Given the description of an element on the screen output the (x, y) to click on. 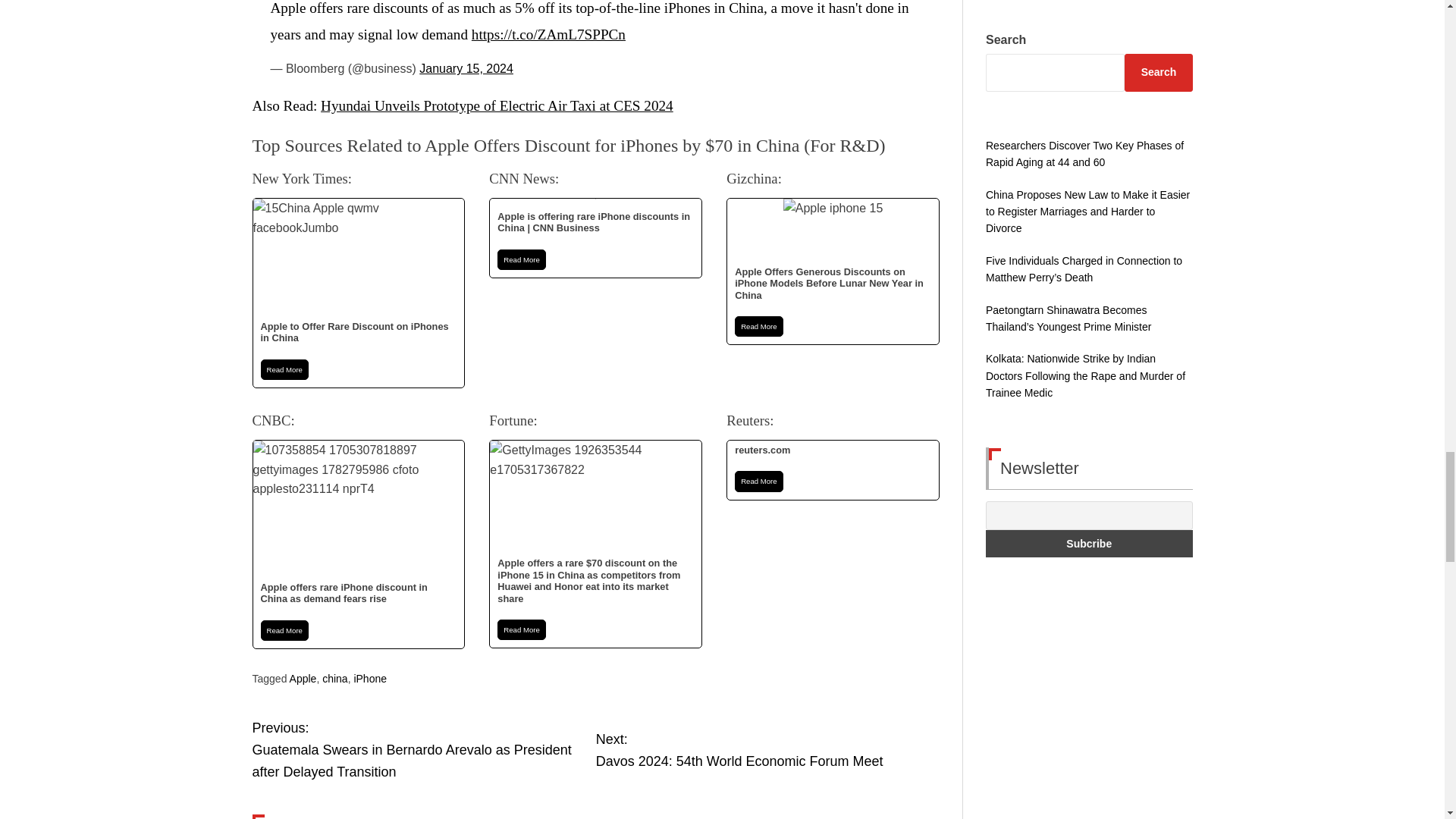
reuters.com (832, 469)
Apple to Offer Rare Discount on iPhones in China (358, 293)
